Given the description of an element on the screen output the (x, y) to click on. 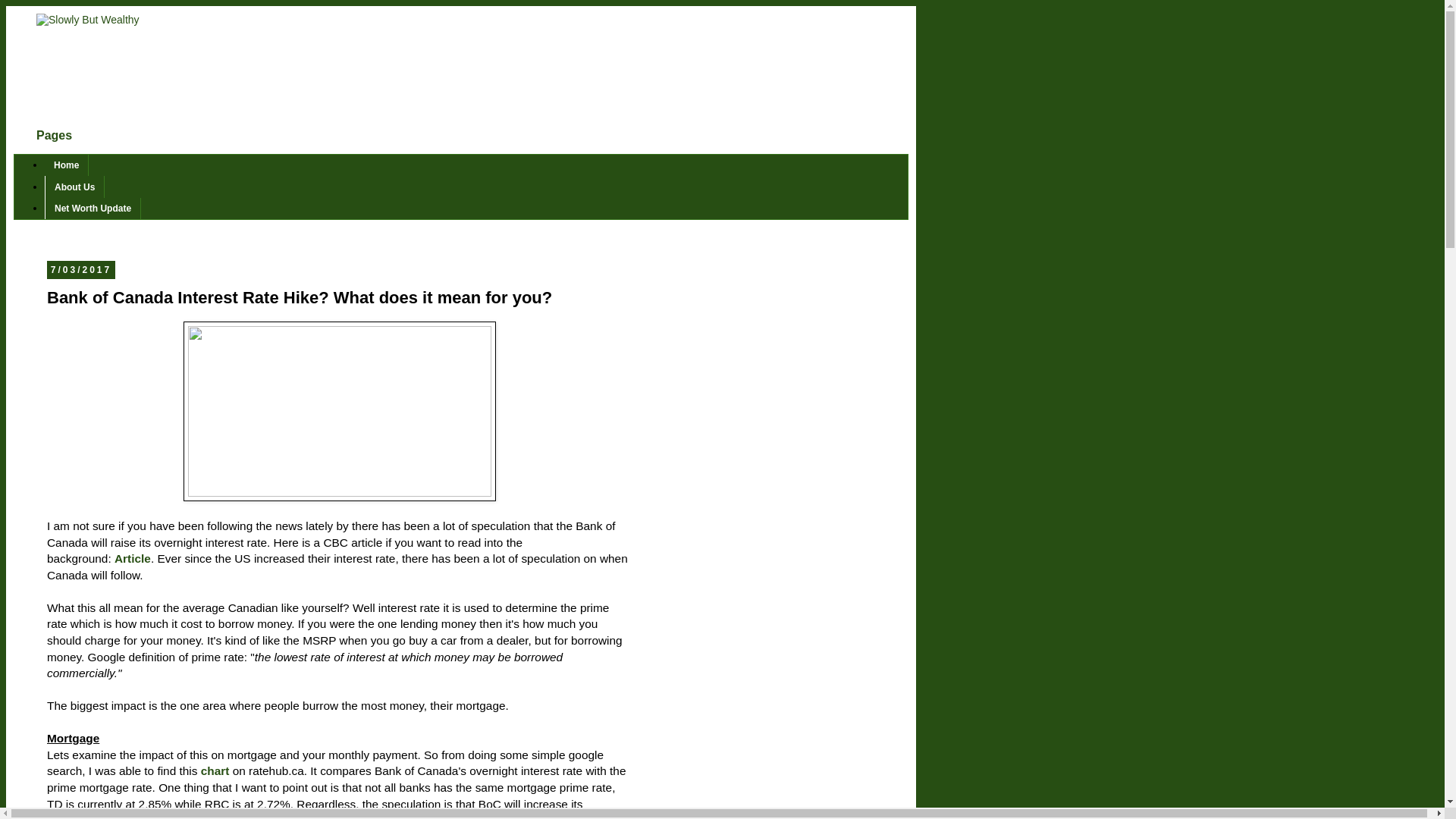
Article (133, 558)
Net Worth Update (93, 208)
Home (66, 165)
About Us (74, 186)
chart (215, 770)
